Given the description of an element on the screen output the (x, y) to click on. 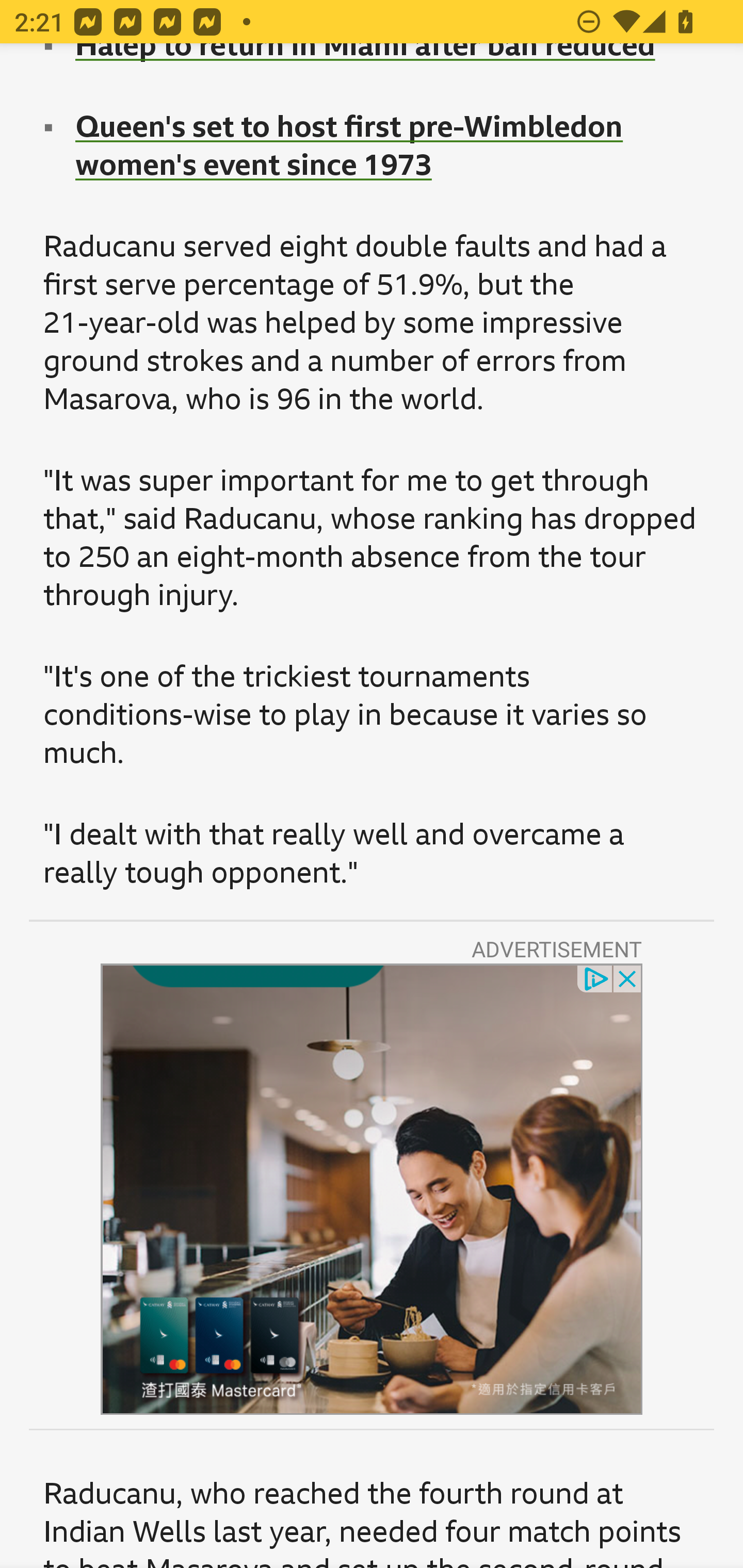
privacy_small (595, 977)
close_button (627, 977)
